Given the description of an element on the screen output the (x, y) to click on. 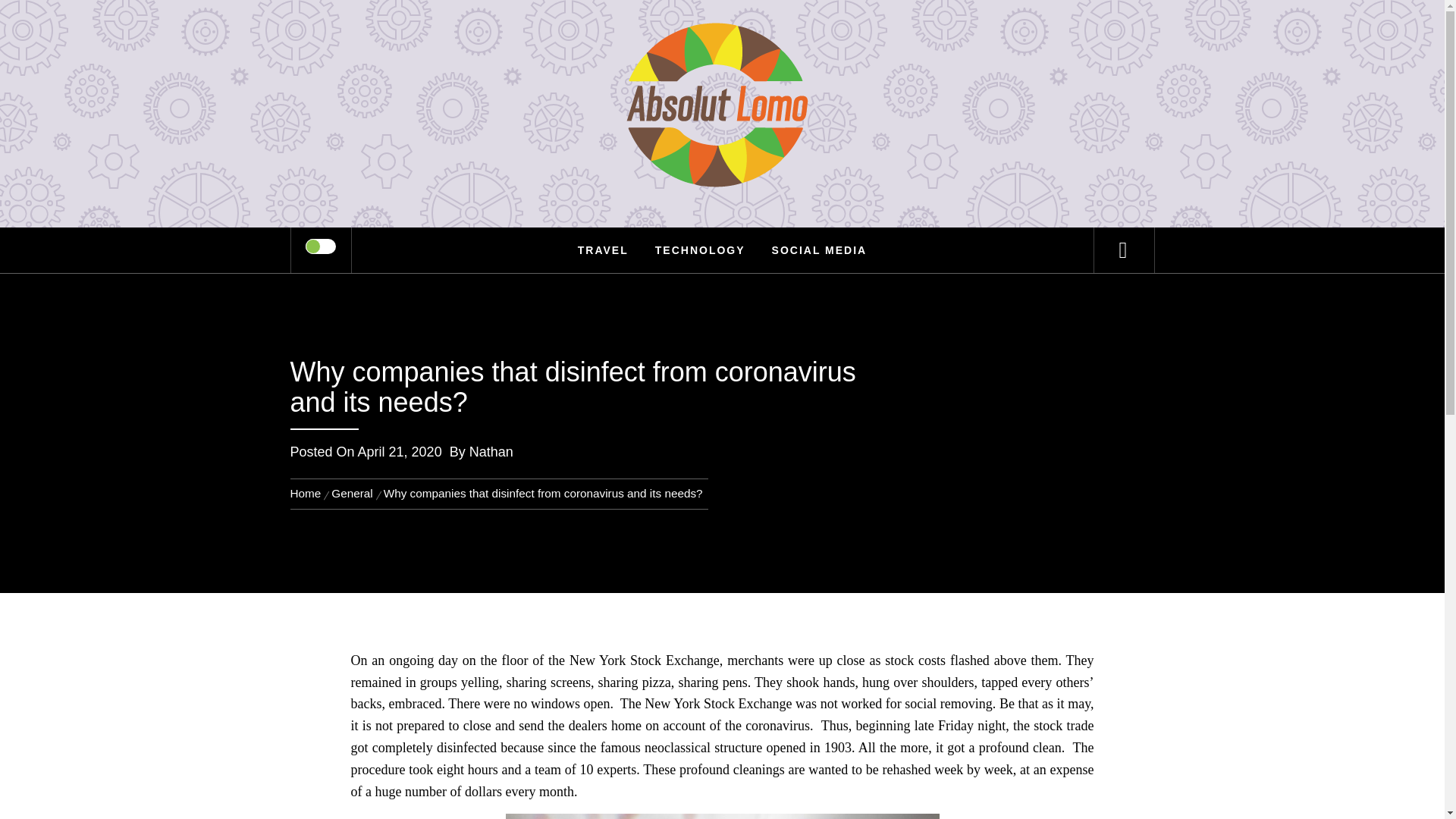
April 21, 2020 (400, 451)
Nathan (490, 451)
Search (797, 33)
General (351, 492)
ABSOLUT LOMO (721, 61)
SOCIAL MEDIA (819, 249)
TRAVEL (603, 249)
TECHNOLOGY (700, 249)
Home (307, 492)
